Given the description of an element on the screen output the (x, y) to click on. 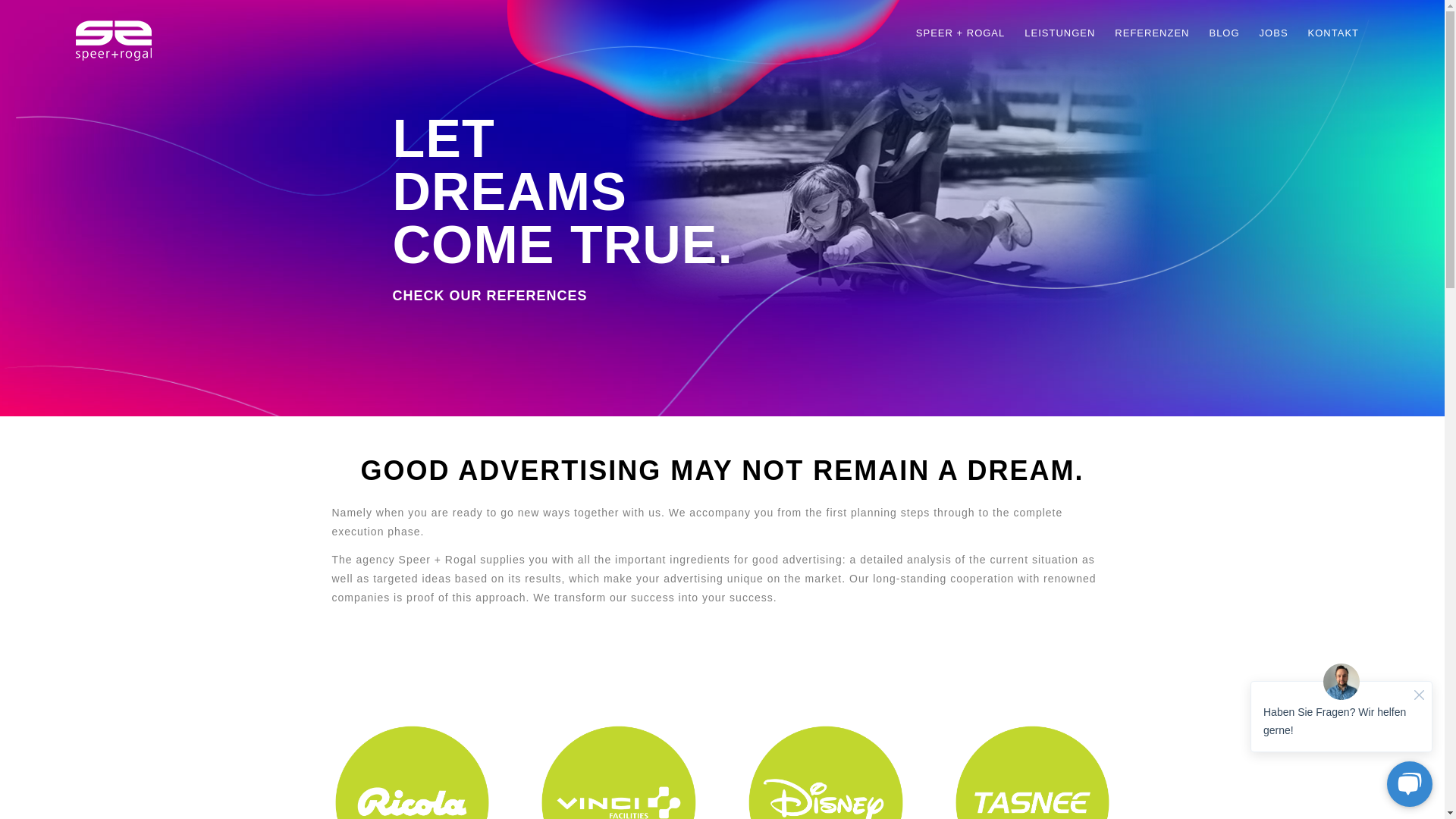
REFERENZEN (1151, 33)
LEISTUNGEN (1059, 33)
JOBS (1273, 33)
KONTAKT (1333, 33)
BLOG (1223, 33)
